Given the description of an element on the screen output the (x, y) to click on. 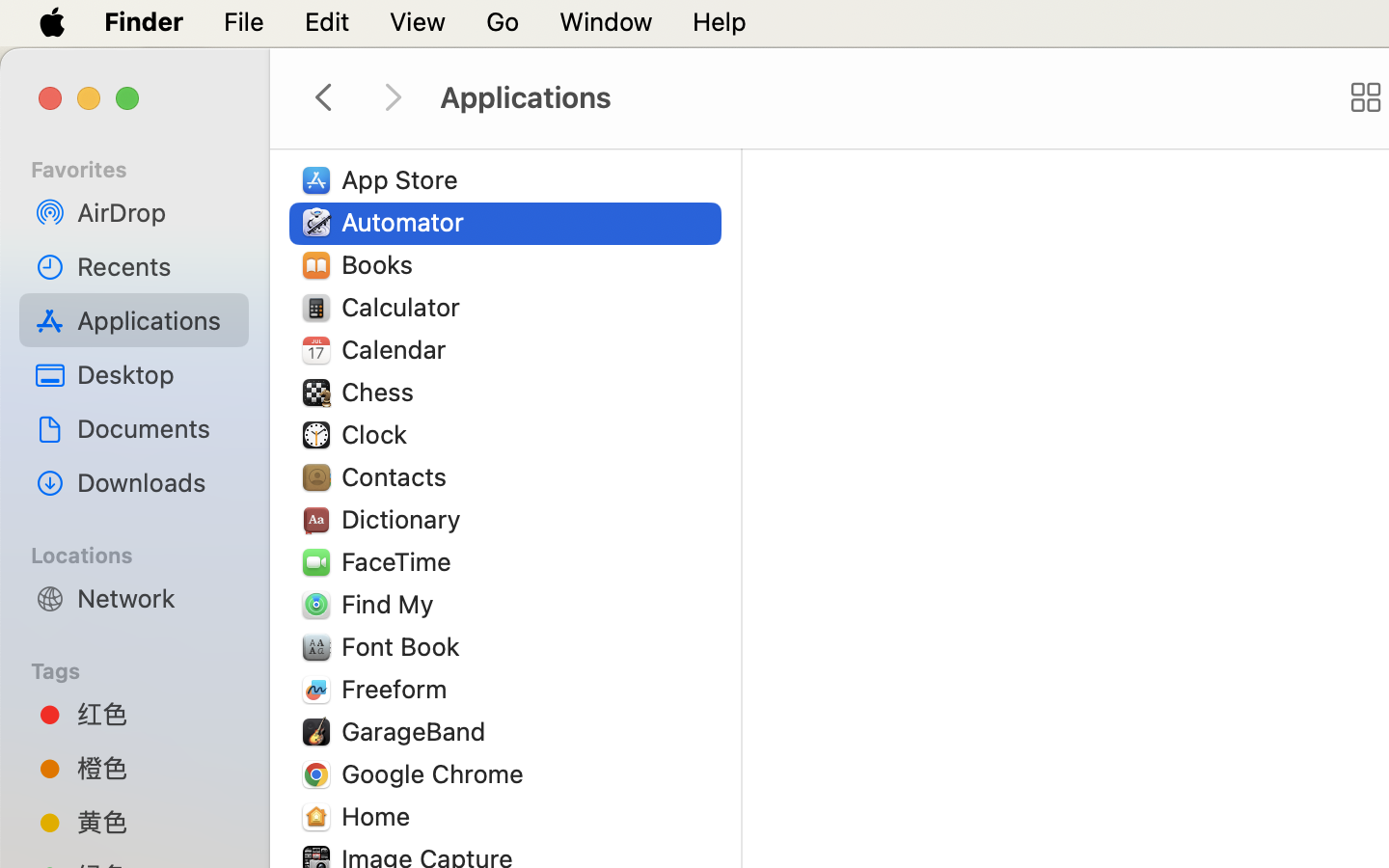
Documents Element type: AXStaticText (155, 427)
Automator Element type: AXTextField (406, 221)
Freeform Element type: AXTextField (398, 688)
红色 Element type: AXStaticText (155, 713)
Font Book Element type: AXTextField (404, 645)
